Given the description of an element on the screen output the (x, y) to click on. 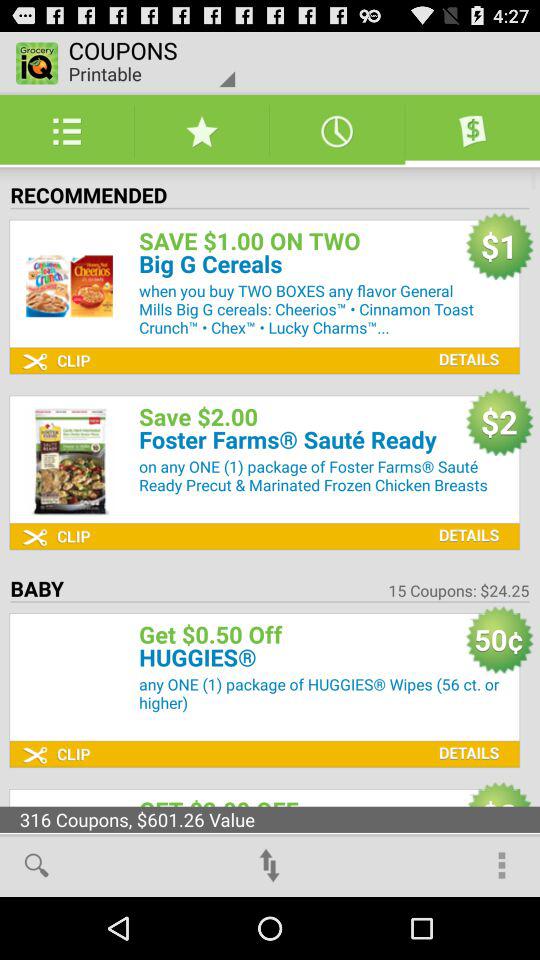
details option (464, 519)
